Given the description of an element on the screen output the (x, y) to click on. 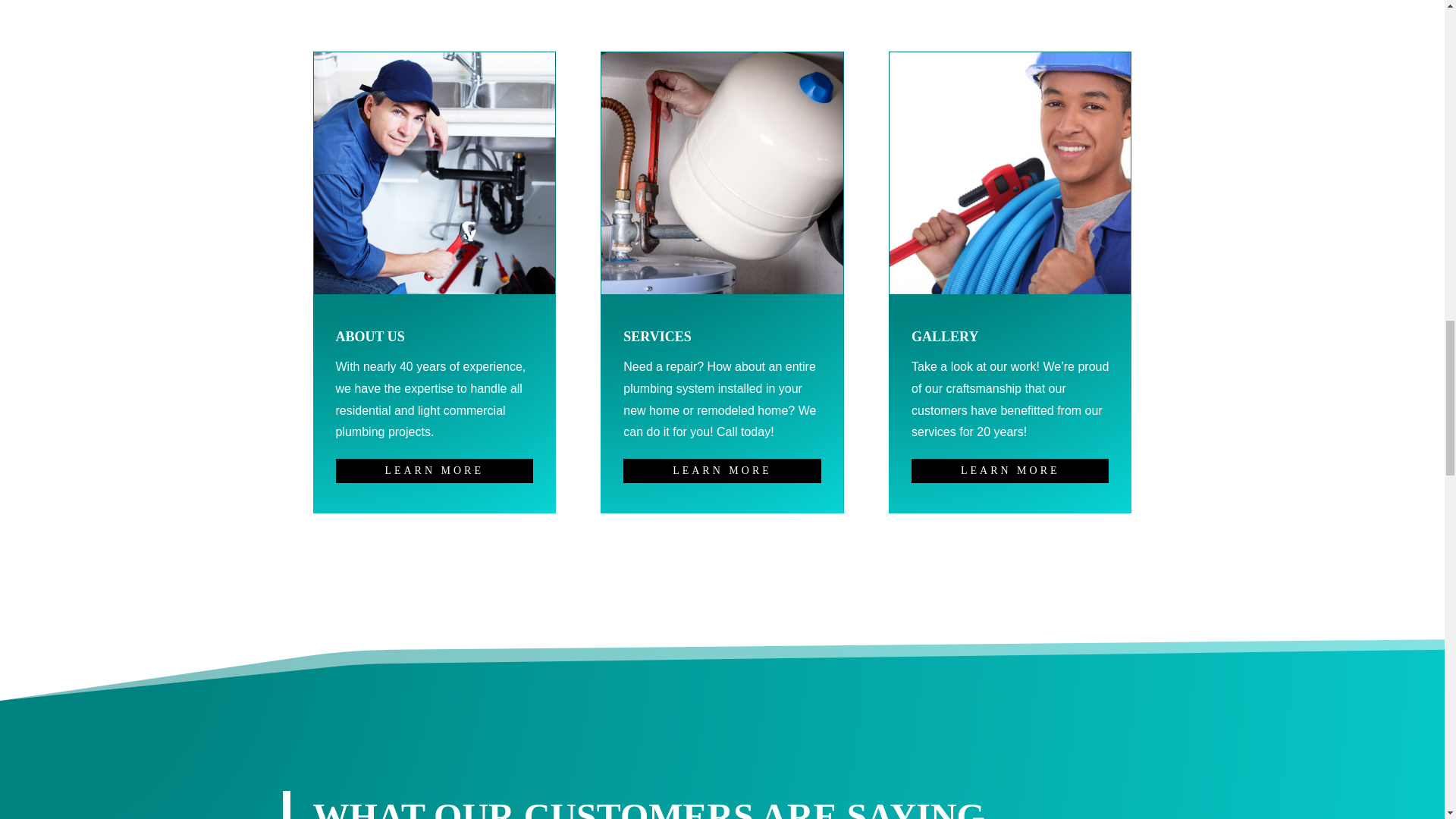
LEARN MORE (433, 470)
LEARN MORE (722, 470)
LEARN MORE (1009, 470)
